Given the description of an element on the screen output the (x, y) to click on. 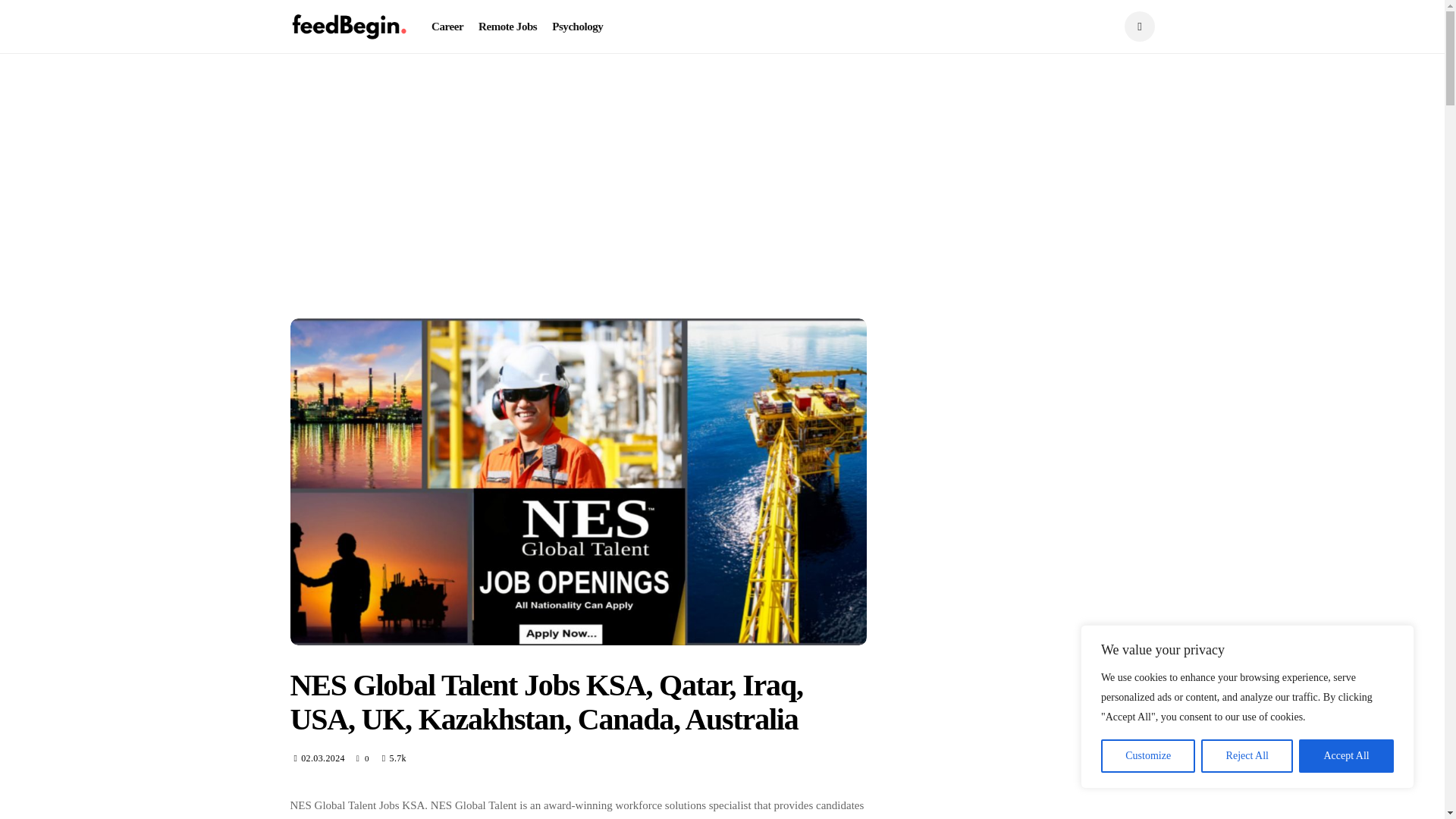
Remote Jobs (508, 26)
Reject All (1246, 756)
Advertisement (1031, 185)
Psychology (576, 26)
Advertisement (1031, 568)
Like (363, 758)
Advertisement (577, 196)
Career (446, 26)
Accept All (1345, 756)
Customize (1147, 756)
0 (363, 758)
